Given the description of an element on the screen output the (x, y) to click on. 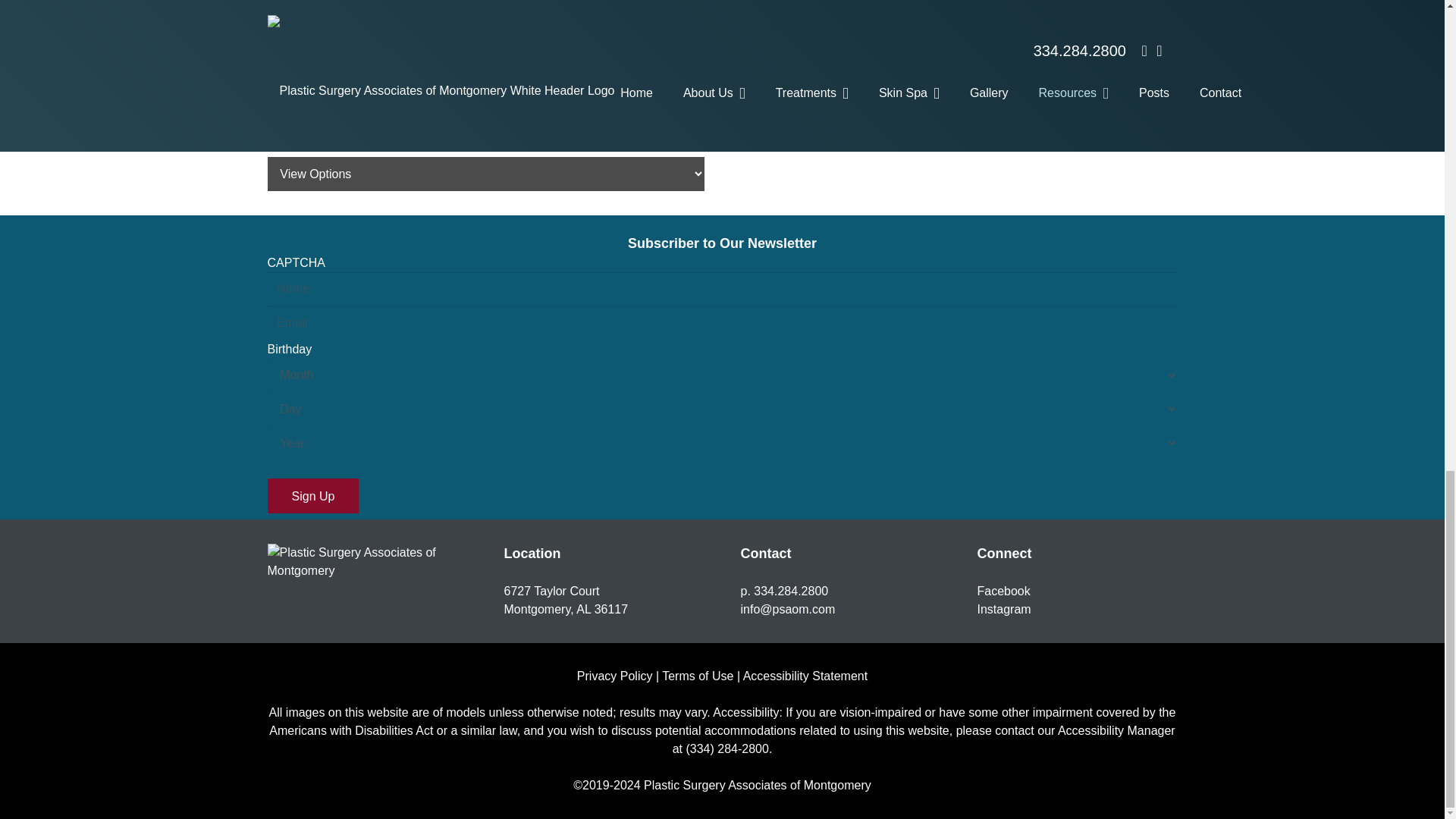
Educator Videos (484, 63)
Sign Up (312, 495)
